Given the description of an element on the screen output the (x, y) to click on. 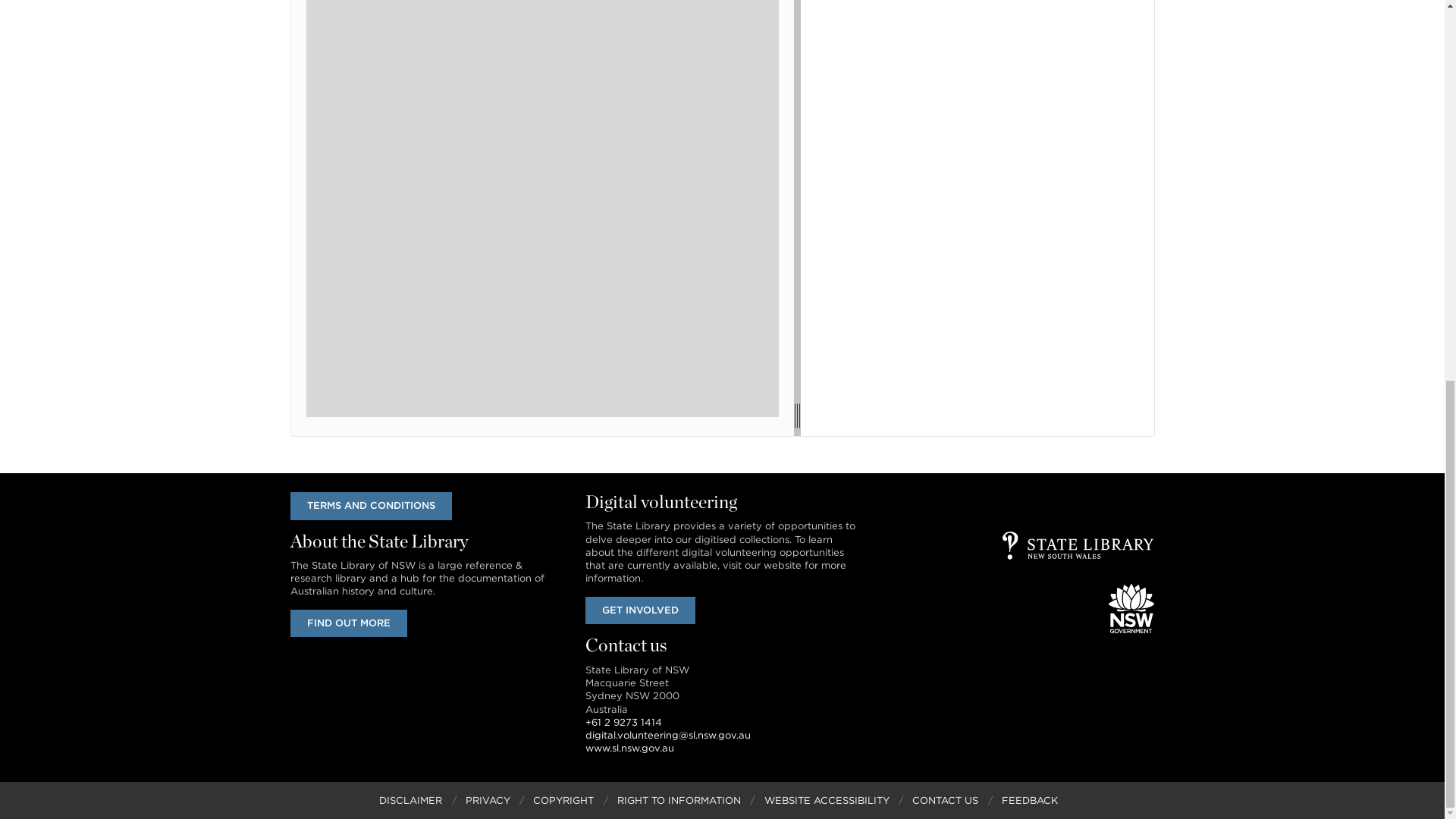
State Library of NSW (1078, 545)
NSW Government (1131, 608)
